Given the description of an element on the screen output the (x, y) to click on. 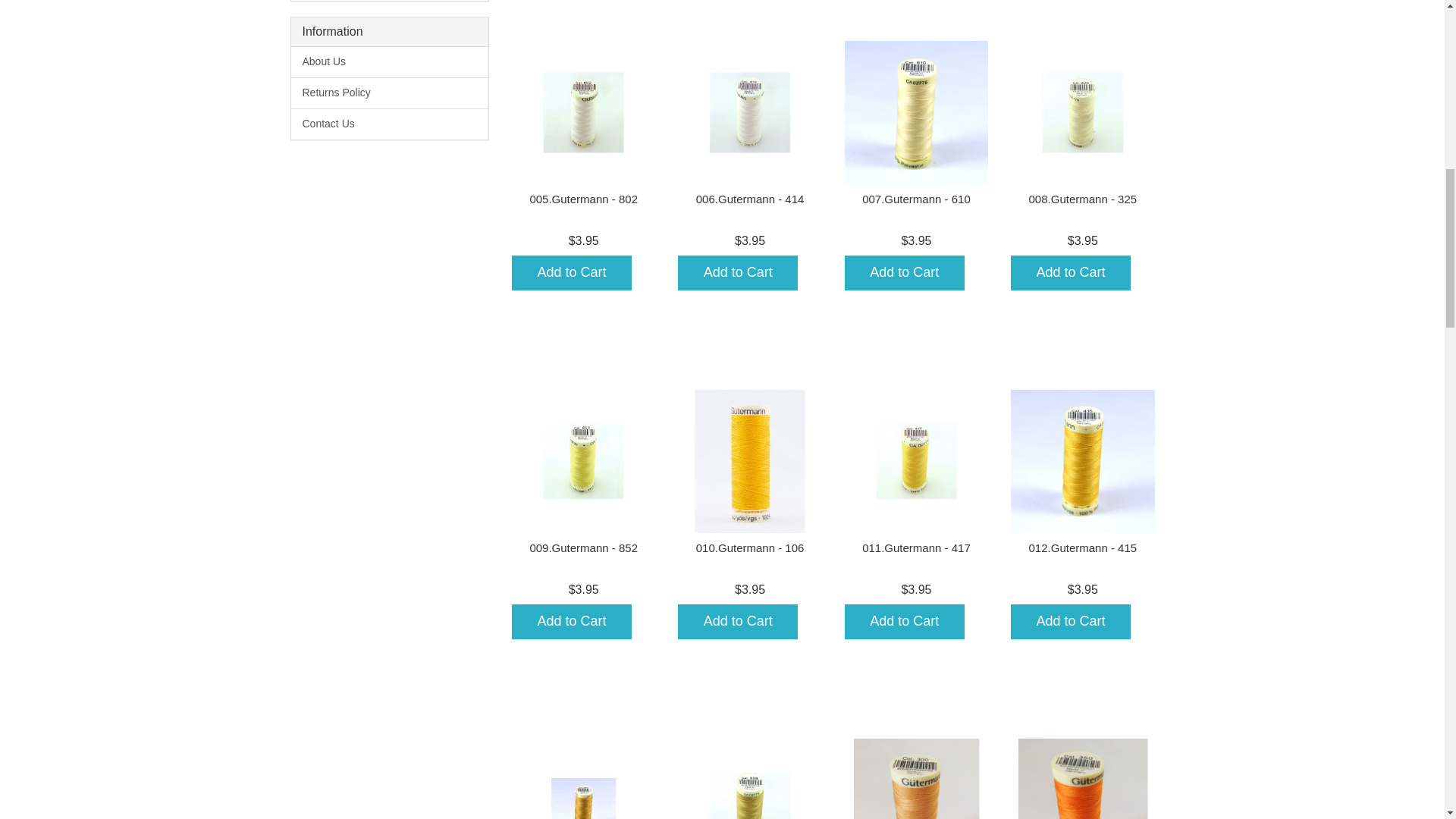
010.Gutermann - 106 (750, 547)
007.Gutermann - 610 (916, 198)
Add to Cart (571, 621)
005.Gutermann - 802 (583, 198)
Add to Cart (571, 272)
Add to Cart (1070, 272)
006.Gutermann - 414 (750, 198)
008.Gutermann - 325 (1083, 198)
009.Gutermann - 852 (583, 547)
Add to Cart (737, 272)
Add to Cart (903, 272)
